Given the description of an element on the screen output the (x, y) to click on. 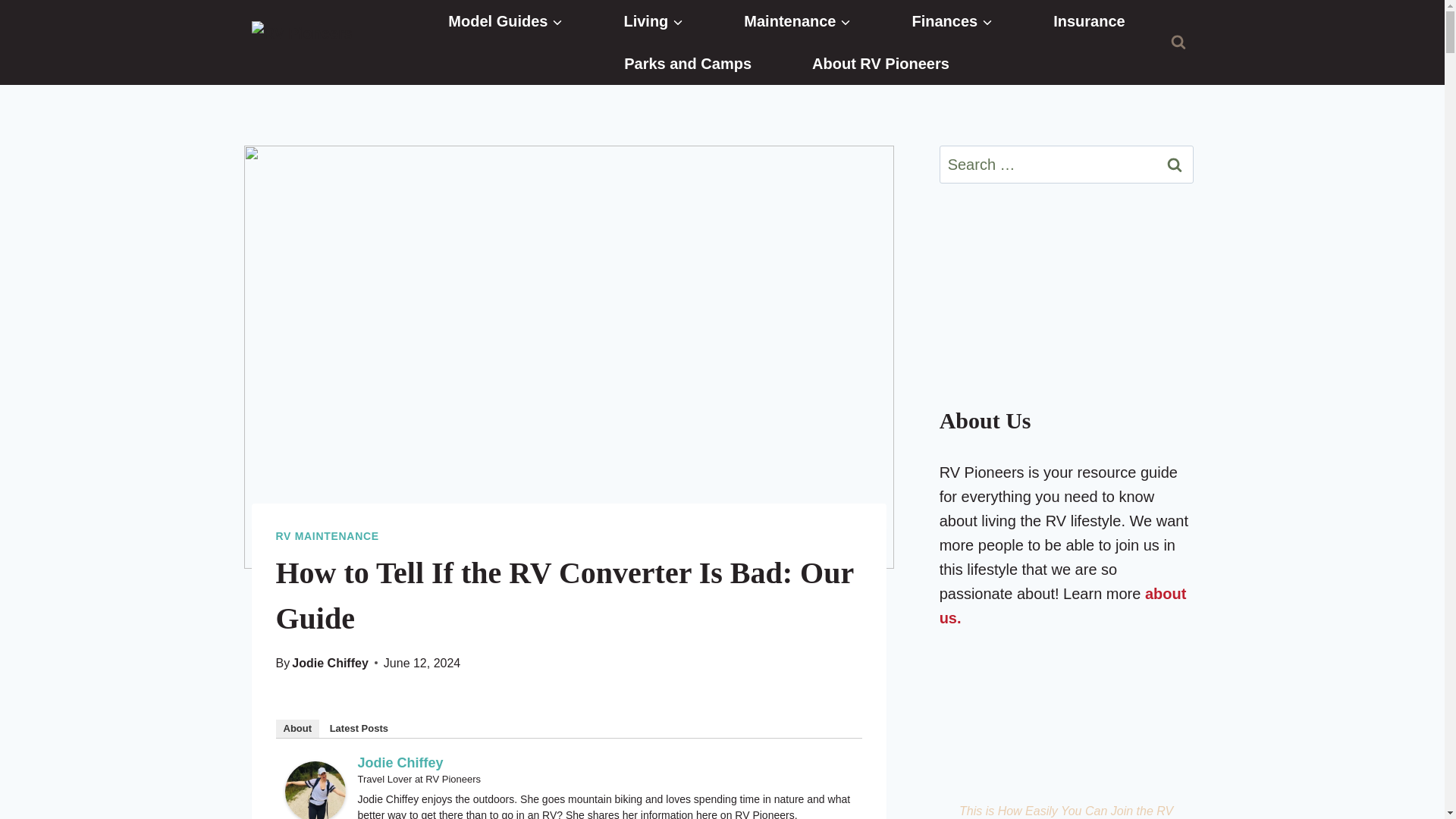
This is How Easily You Can Join the RV Community (1066, 723)
About RV Pioneers (880, 63)
Finances (951, 21)
RV MAINTENANCE (327, 535)
Maintenance (796, 21)
Parks and Camps (687, 63)
Model Guides (504, 21)
Jodie Chiffey (330, 662)
Jodie Chiffey (315, 790)
Search (1174, 164)
About (298, 728)
Living (652, 21)
Jodie Chiffey (401, 762)
Search (1174, 164)
Latest Posts (358, 728)
